Given the description of an element on the screen output the (x, y) to click on. 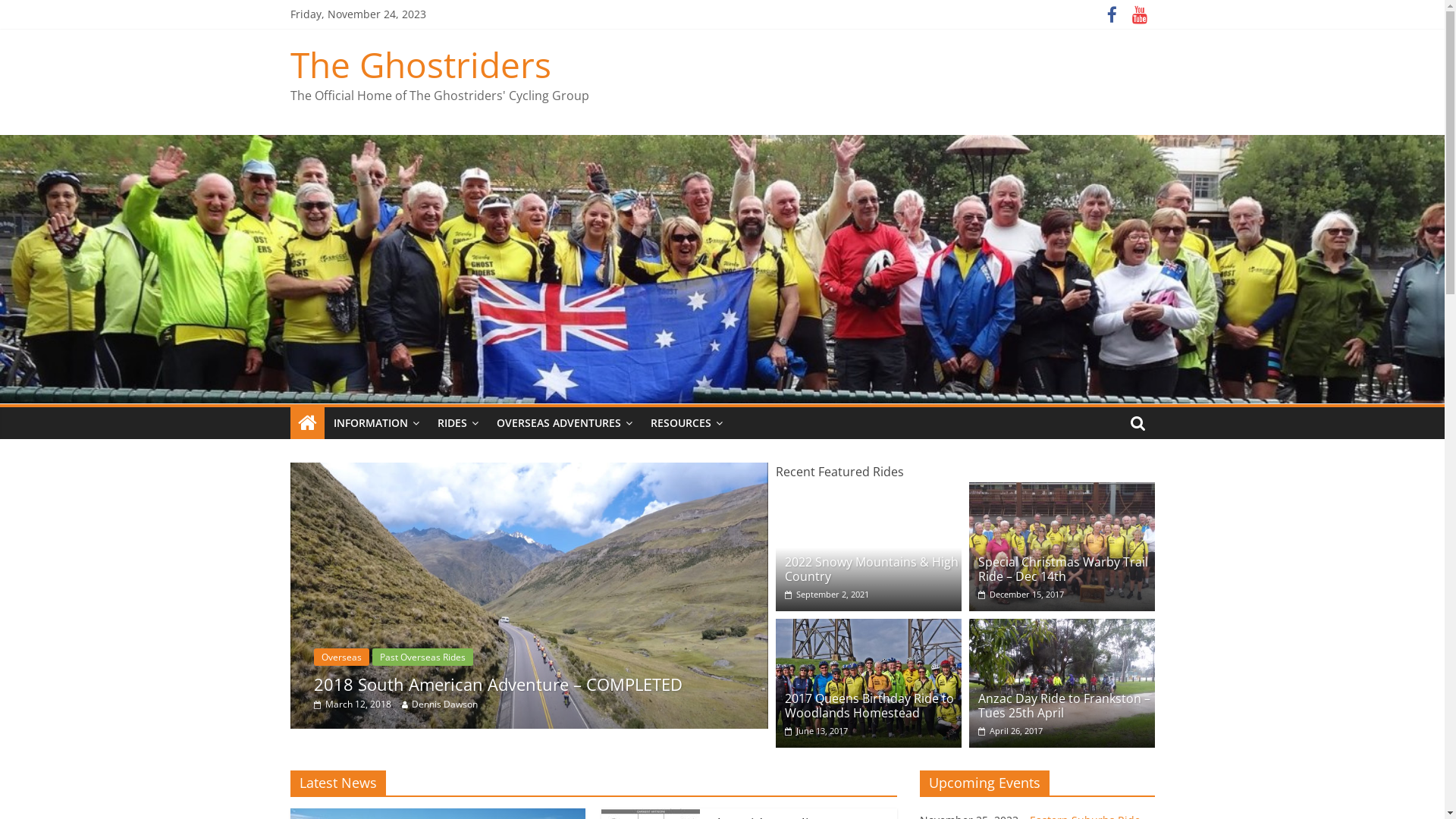
INFORMATION Element type: text (376, 423)
April 26, 2017 Element type: text (1010, 730)
2017 Queens Birthday Ride to Woodlands Homestead Element type: text (868, 705)
2022 Snowy Mountains & High Country Element type: text (871, 568)
OVERSEAS ADVENTURES Element type: text (563, 423)
RESOURCES Element type: text (686, 423)
The Ghostriders Element type: hover (306, 423)
Past Overseas Rides Element type: text (371, 656)
2017 Queens Birthday Ride to Woodlands Homestead Element type: hover (867, 627)
June 13, 2017 Element type: text (815, 730)
RIDES Element type: text (456, 423)
September 2, 2021 Element type: text (826, 593)
July 16, 2018 Element type: text (352, 703)
Dennis Dawson Element type: text (437, 703)
2022 Snowy Mountains & High Country Element type: hover (867, 491)
2017 Queens Birthday Ride to Woodlands Homestead Element type: hover (867, 682)
December 15, 2017 Element type: text (1020, 593)
The Ghostriders Element type: text (419, 63)
The Ghostriders Element type: hover (722, 143)
